Given the description of an element on the screen output the (x, y) to click on. 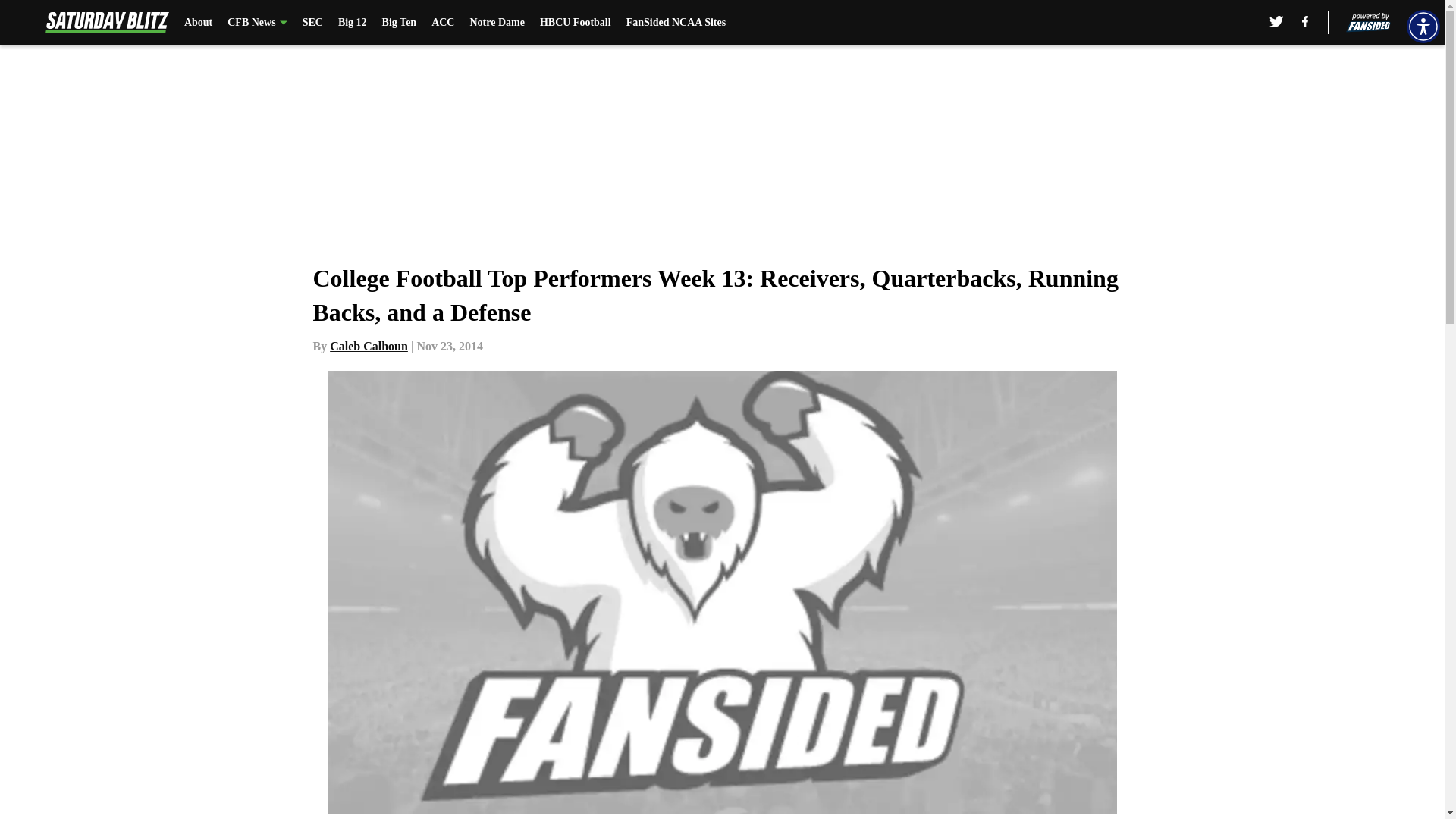
About (198, 22)
ACC (442, 22)
Caleb Calhoun (368, 345)
SEC (312, 22)
Notre Dame (496, 22)
FanSided NCAA Sites (675, 22)
Accessibility Menu (1422, 26)
Big Ten (398, 22)
HBCU Football (575, 22)
Big 12 (351, 22)
